Given the description of an element on the screen output the (x, y) to click on. 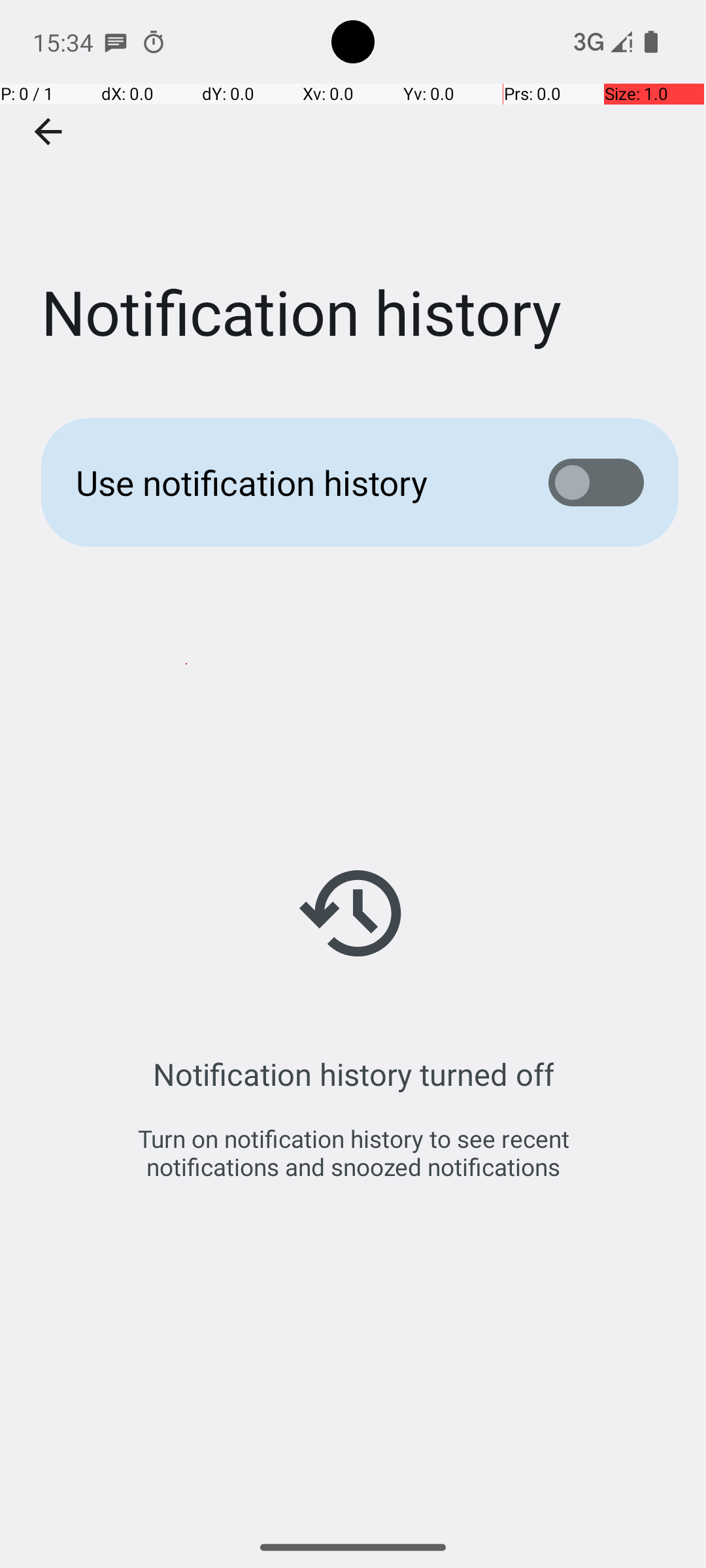
Notification history turned off Element type: android.widget.TextView (352, 1073)
Turn on notification history to see recent notifications and snoozed notifications Element type: android.widget.TextView (352, 1152)
